Given the description of an element on the screen output the (x, y) to click on. 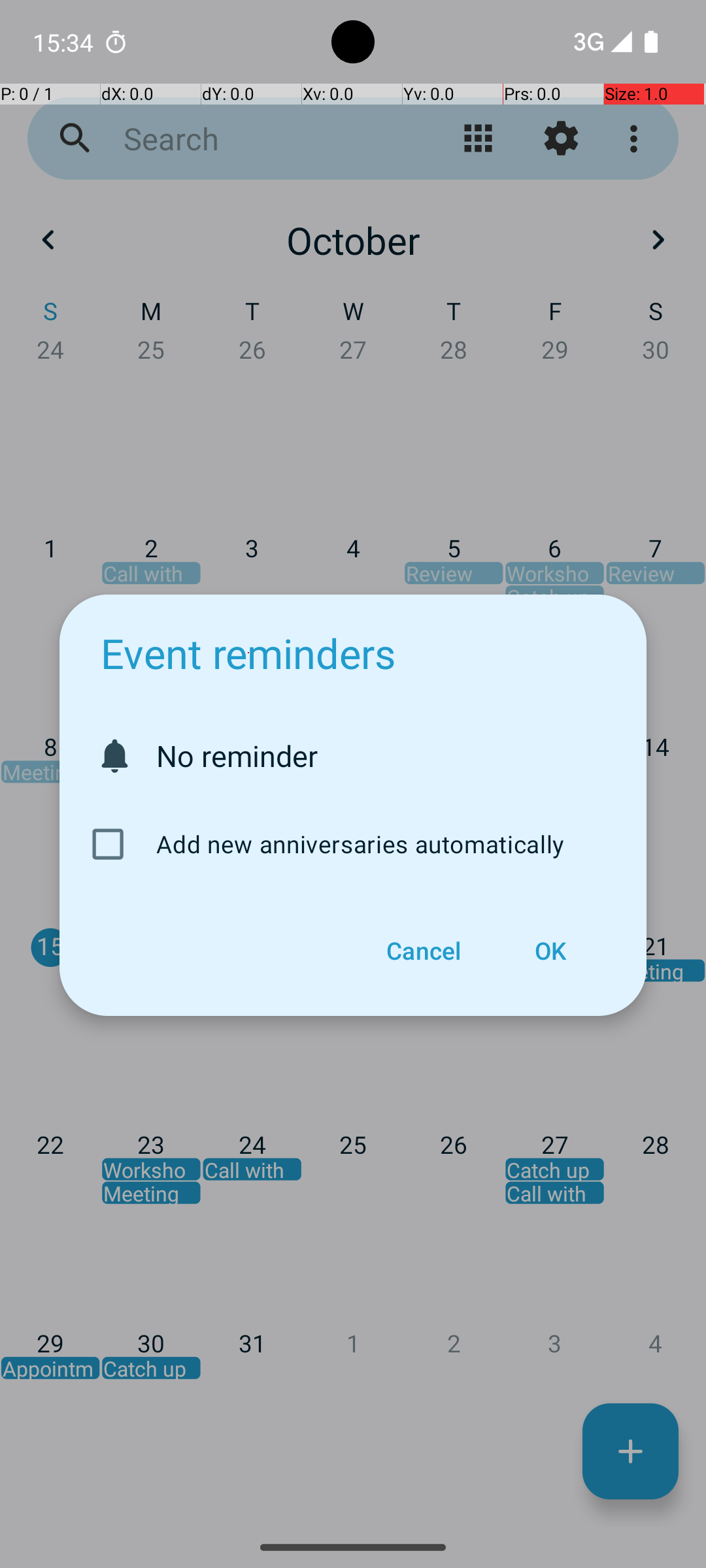
Event reminders Element type: android.widget.TextView (248, 652)
Add new anniversaries automatically Element type: android.widget.CheckBox (349, 843)
